Given the description of an element on the screen output the (x, y) to click on. 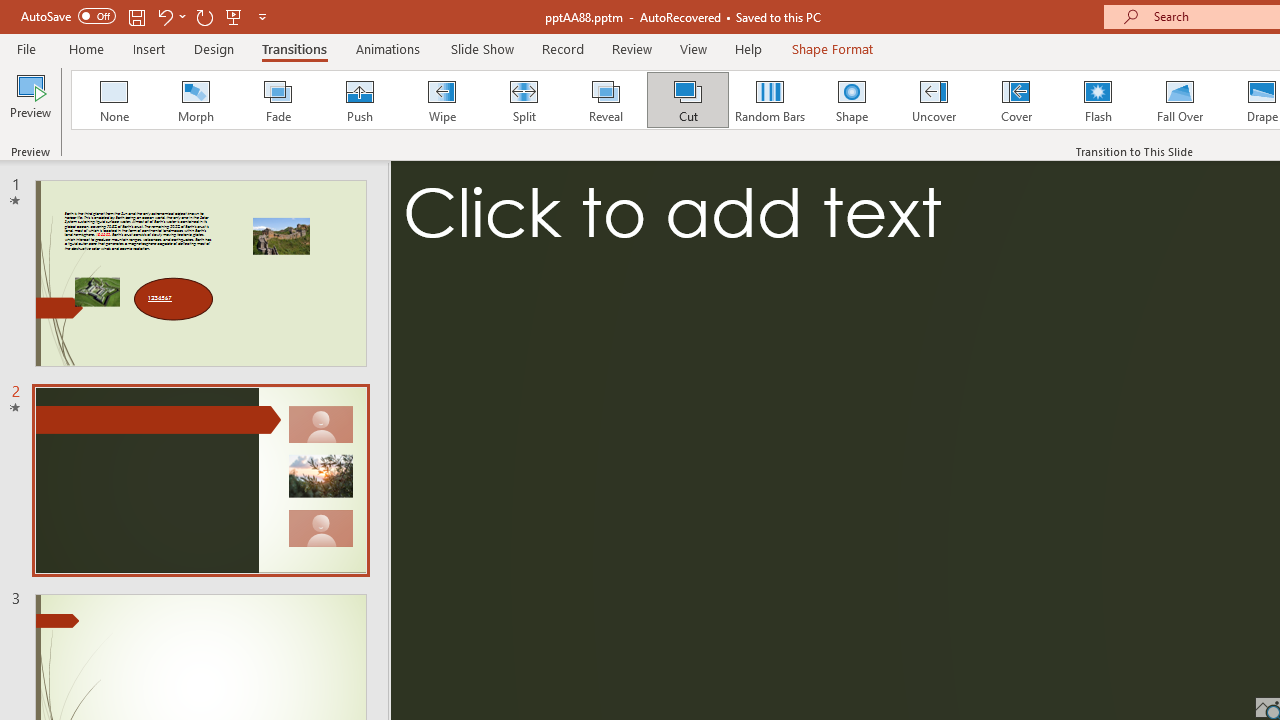
None (113, 100)
Flash (1098, 100)
